Given the description of an element on the screen output the (x, y) to click on. 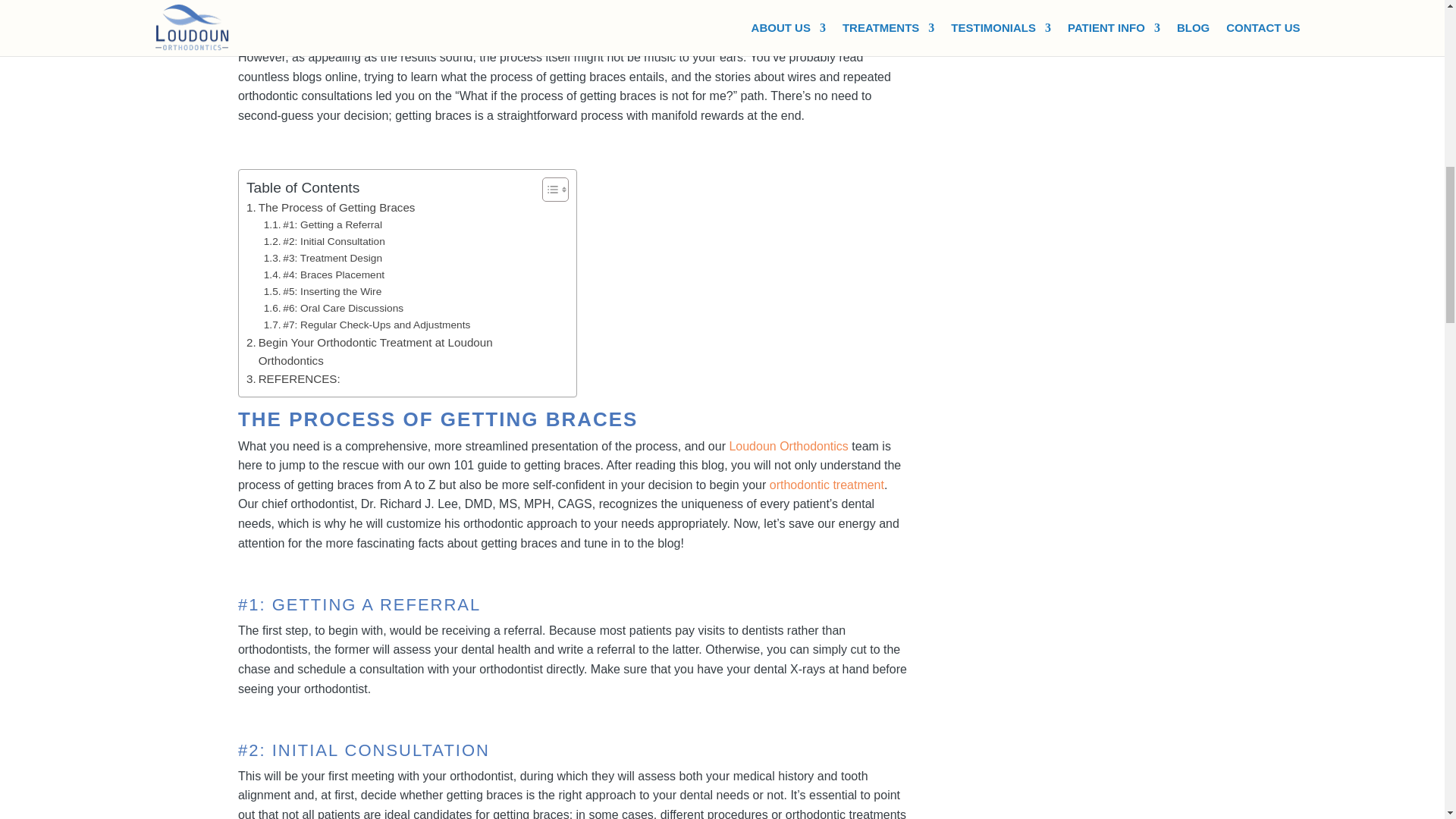
The Process of Getting Braces (330, 208)
REFERENCES: (293, 379)
Begin Your Orthodontic Treatment at Loudoun Orthodontics (390, 352)
